Given the description of an element on the screen output the (x, y) to click on. 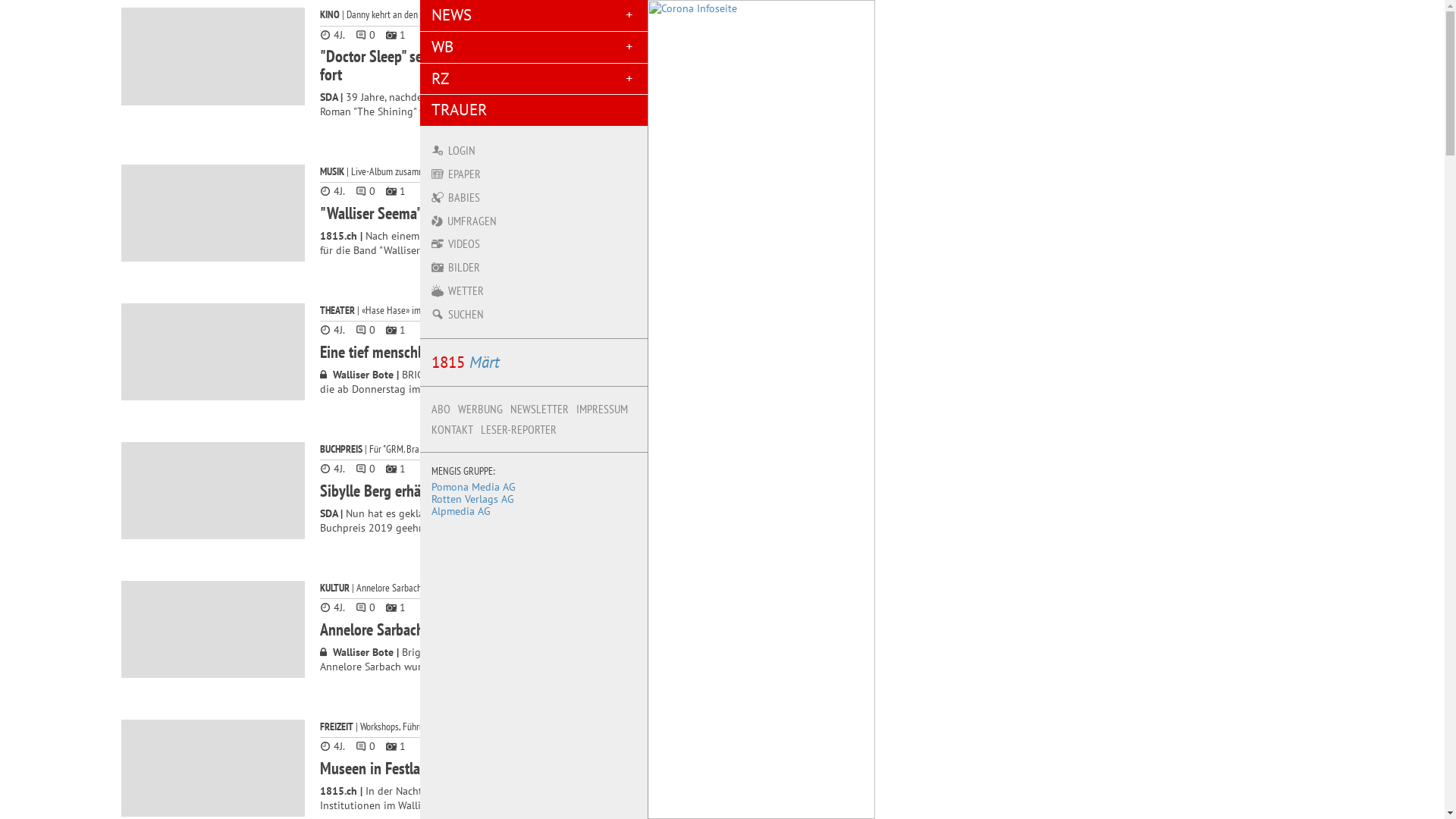
"Doctor Sleep" setzt Kult-Horrorfilm "The Shining" fort Element type: text (467, 64)
0 Element type: text (365, 190)
0 Element type: text (365, 34)
[...] Element type: text (487, 110)
1 Element type: text (395, 329)
0 Element type: text (365, 329)
BILDER Element type: text (533, 267)
KONTAKT Element type: text (451, 429)
Alpmedia AG Element type: text (460, 510)
[...] Element type: text (483, 249)
"Walliser Seema" mit neuem Album am Start Element type: text (452, 212)
UMFRAGEN Element type: text (533, 220)
LESER-REPORTER Element type: text (518, 429)
NEWS Element type: text (533, 15)
0 Element type: text (365, 745)
LOGIN Element type: text (533, 150)
1 Element type: text (395, 745)
TRAUER Element type: text (533, 109)
IMPRESSUM Element type: text (601, 408)
RZ Element type: text (533, 78)
[...] Element type: text (592, 388)
Rotten Verlags AG Element type: text (472, 498)
EPAPER Element type: text (533, 173)
Museen in Festlaune Element type: text (381, 767)
[...] Element type: text (548, 804)
0 Element type: text (365, 606)
Pomona Media AG Element type: text (473, 486)
0 Element type: text (365, 468)
WETTER Element type: text (533, 290)
NEWSLETTER Element type: text (539, 408)
1 Element type: text (395, 468)
1 Element type: text (395, 34)
1 Element type: text (395, 190)
WERBUNG Element type: text (480, 408)
SUCHEN Element type: text (533, 314)
ABO Element type: text (440, 408)
1 Element type: text (395, 606)
[...] Element type: text (525, 527)
WB Element type: text (533, 46)
[...] Element type: text (597, 665)
BABIES Element type: text (533, 197)
VIDEOS Element type: text (533, 243)
